Given the description of an element on the screen output the (x, y) to click on. 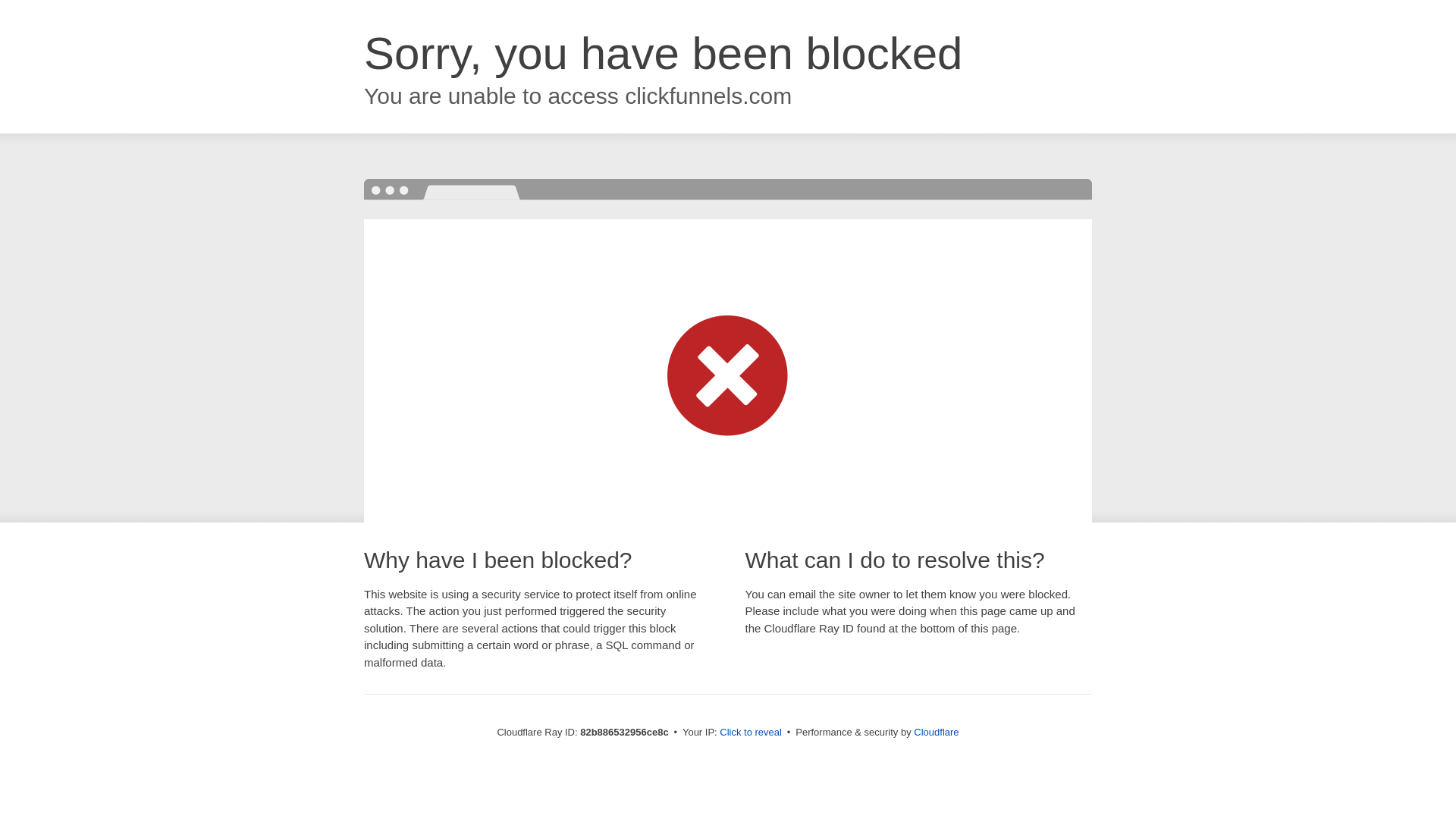
Click to reveal Element type: text (750, 732)
Cloudflare Element type: text (935, 731)
